Given the description of an element on the screen output the (x, y) to click on. 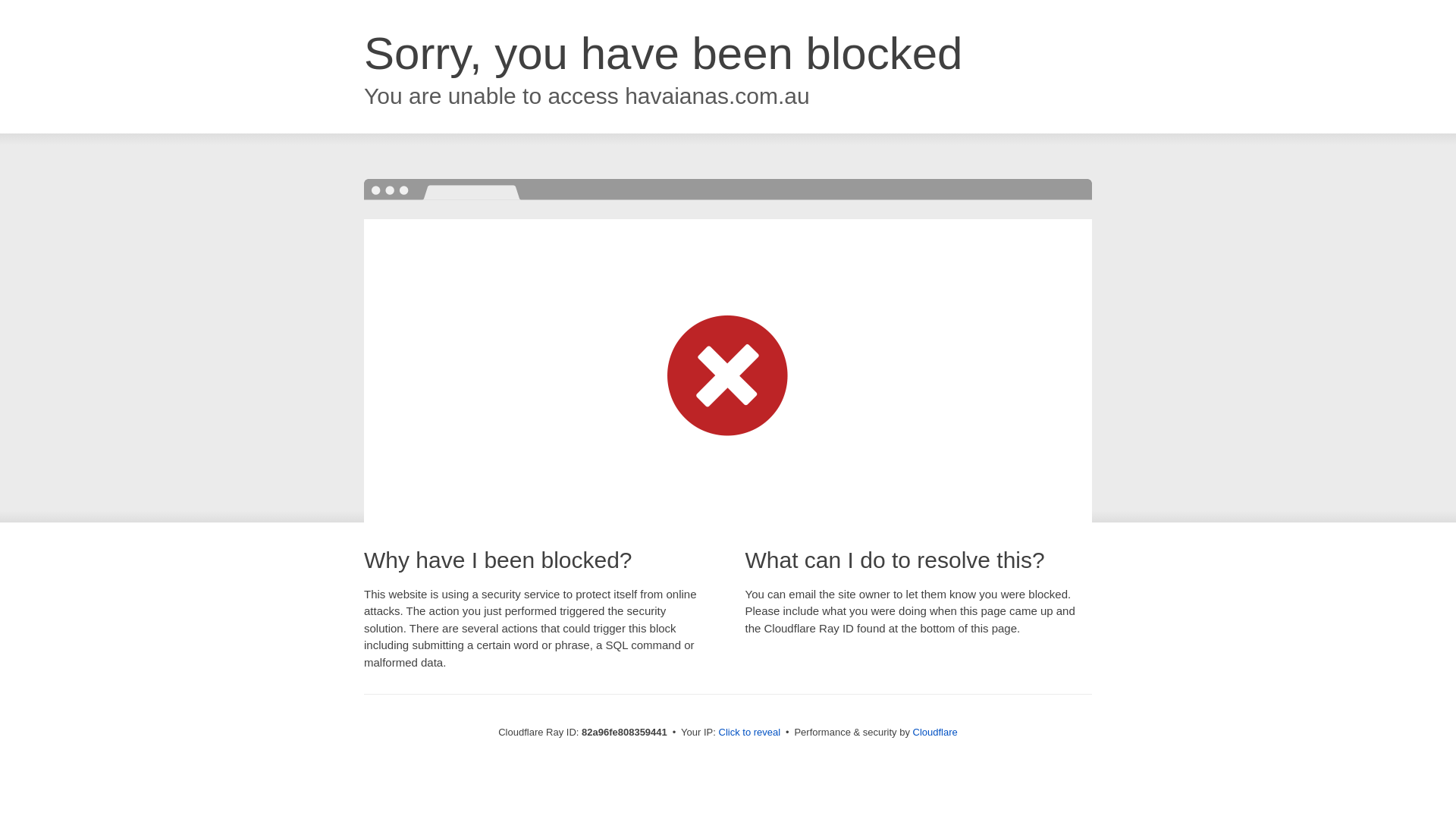
Cloudflare Element type: text (935, 731)
Click to reveal Element type: text (749, 732)
